Given the description of an element on the screen output the (x, y) to click on. 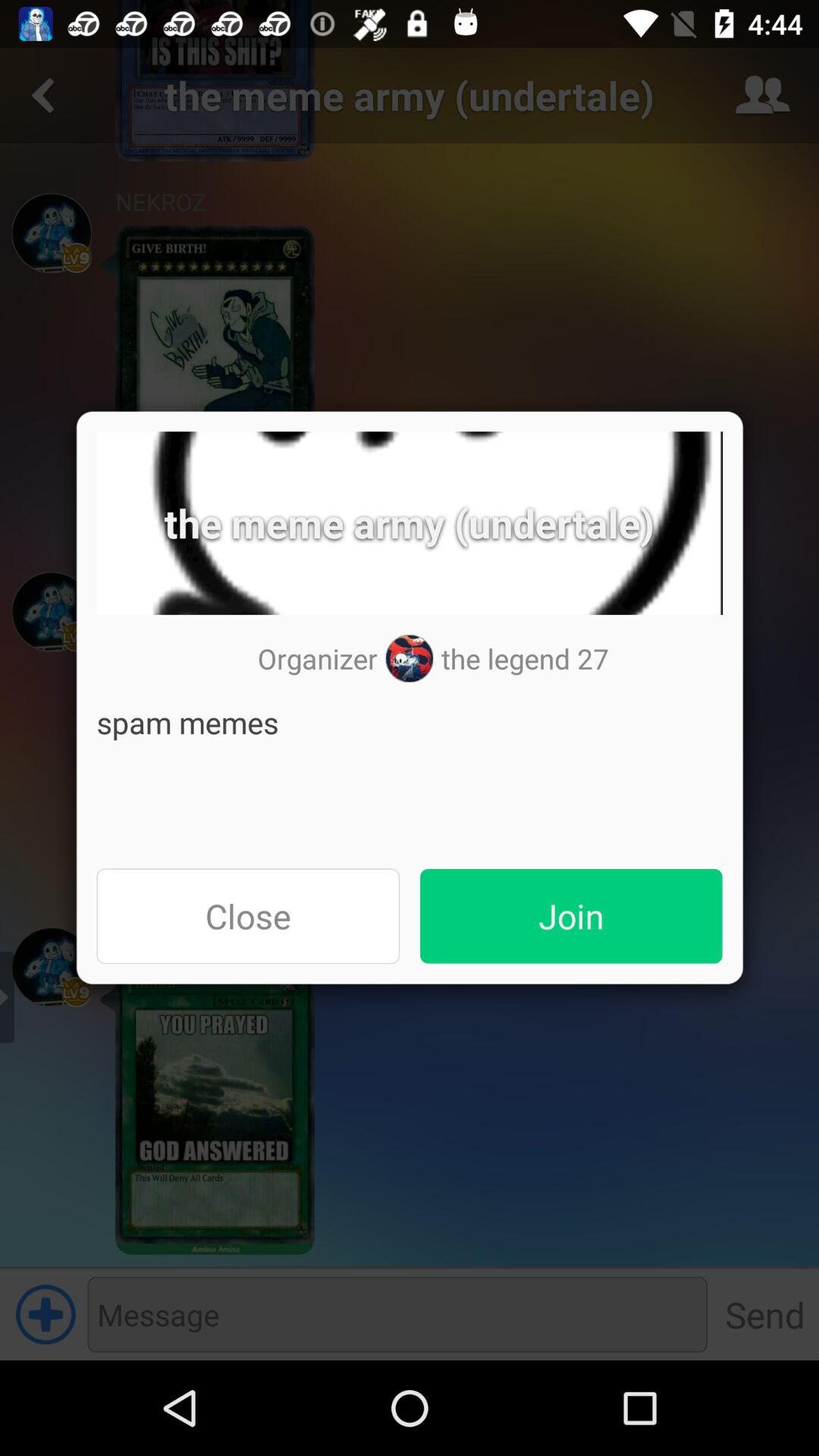
tap item on the right (570, 916)
